Given the description of an element on the screen output the (x, y) to click on. 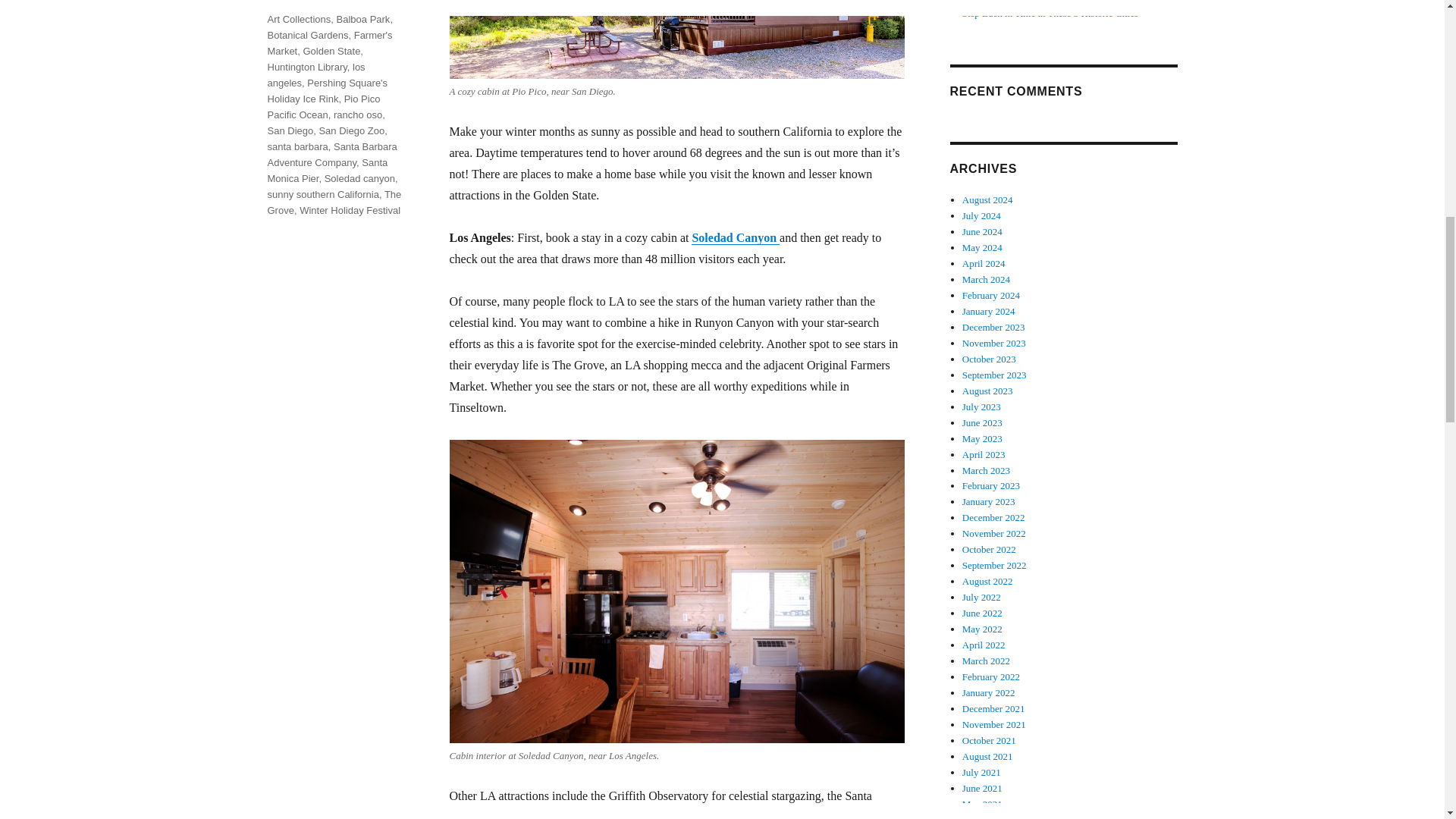
Art Collections (298, 19)
Soledad canyon (359, 178)
Huntington Library (306, 66)
Balboa Park (363, 19)
santa barbara (296, 146)
Santa Monica Pier (326, 170)
Farmer's Market (328, 42)
sunny southern California (322, 194)
Winter Holiday Festival (349, 210)
San Diego (289, 130)
